Given the description of an element on the screen output the (x, y) to click on. 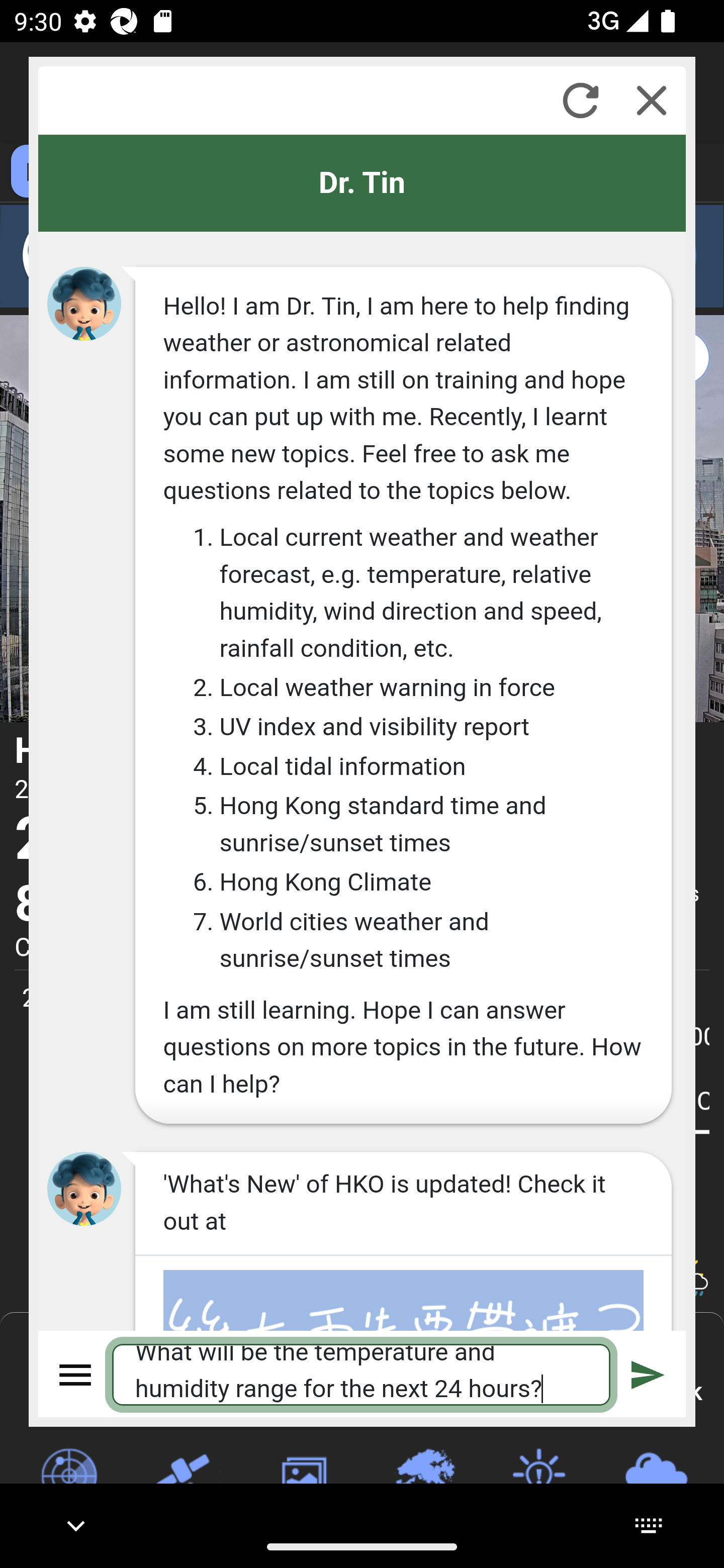
Refresh (580, 100)
Close (651, 100)
Menu (75, 1374)
Submit (648, 1374)
